Given the description of an element on the screen output the (x, y) to click on. 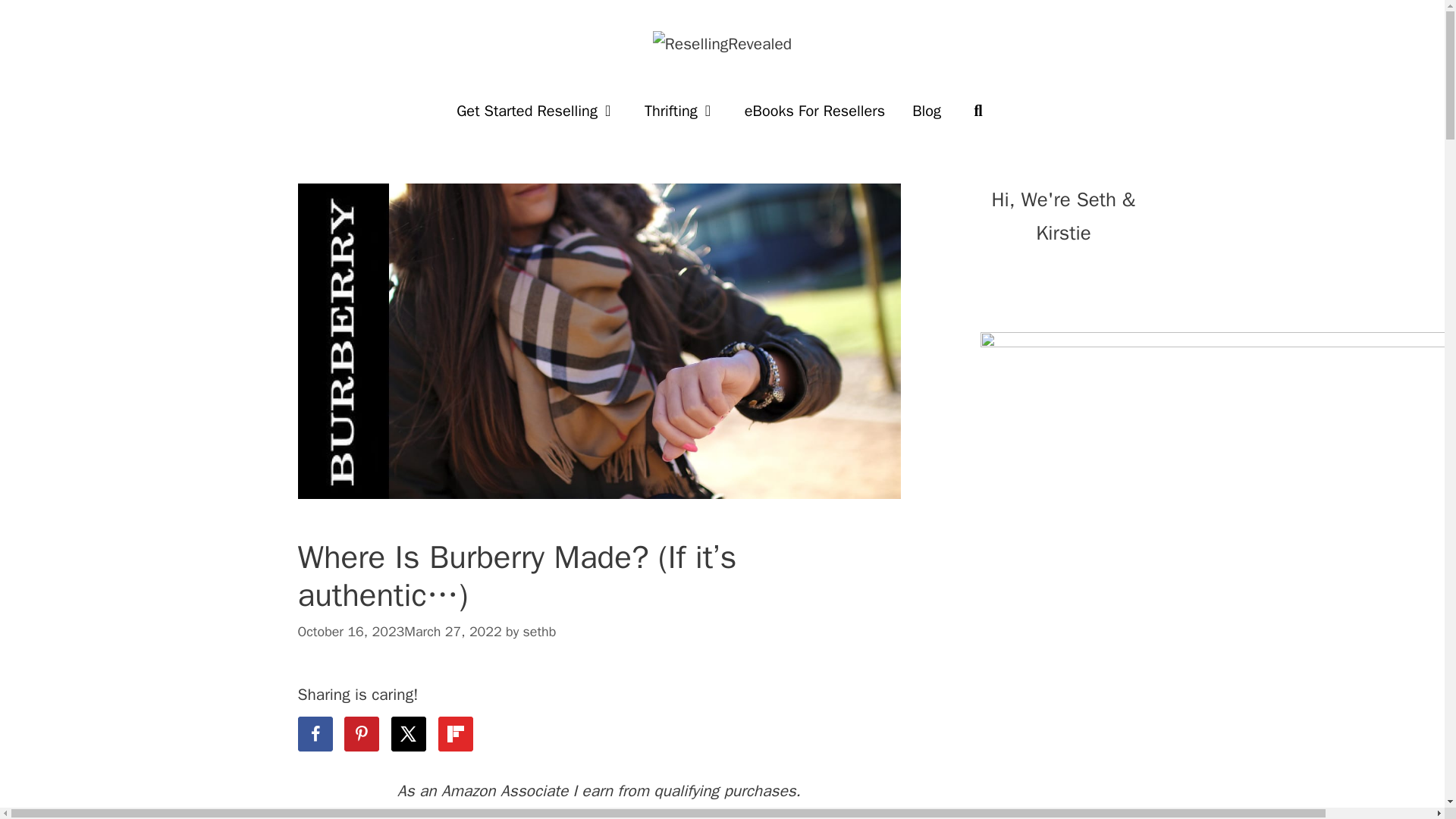
Share on Flipboard (455, 733)
Get Started Reselling (536, 110)
sethb (539, 631)
Save to Pinterest (360, 733)
Share on X (408, 733)
Blog (926, 110)
Share on Facebook (314, 733)
View all posts by sethb (539, 631)
Thrifting (680, 110)
eBooks For Resellers (814, 110)
